Given the description of an element on the screen output the (x, y) to click on. 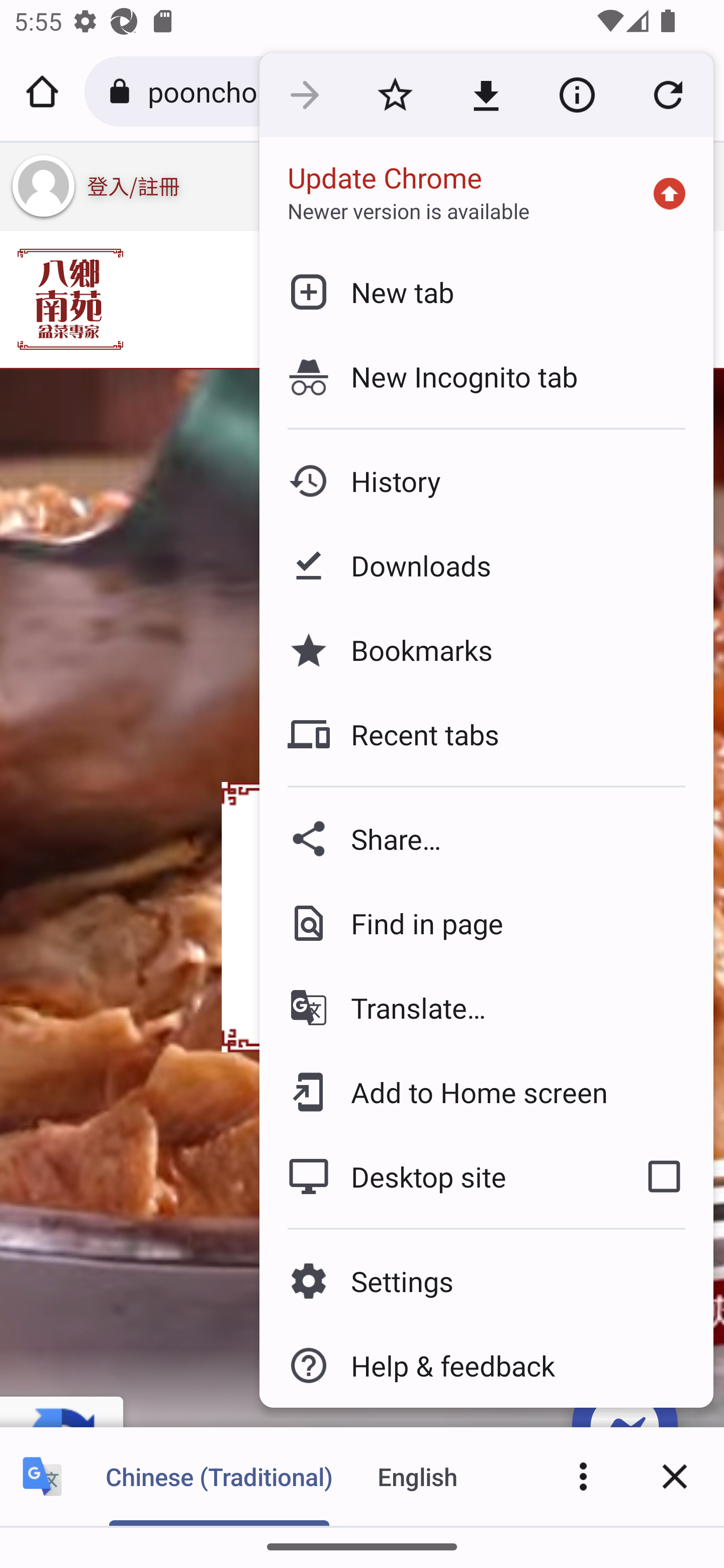
Forward (304, 95)
Bookmark (394, 95)
Download (485, 95)
Page info (576, 95)
Refresh (667, 95)
New tab (486, 291)
New Incognito tab (486, 375)
History (486, 481)
Downloads (486, 565)
Bookmarks (486, 649)
Recent tabs (486, 733)
Share… (486, 838)
Find in page (486, 923)
Translate… (486, 1007)
Add to Home screen (486, 1091)
Desktop site Turn on Request desktop site (436, 1175)
Settings (486, 1280)
Help & feedback (486, 1365)
